Given the description of an element on the screen output the (x, y) to click on. 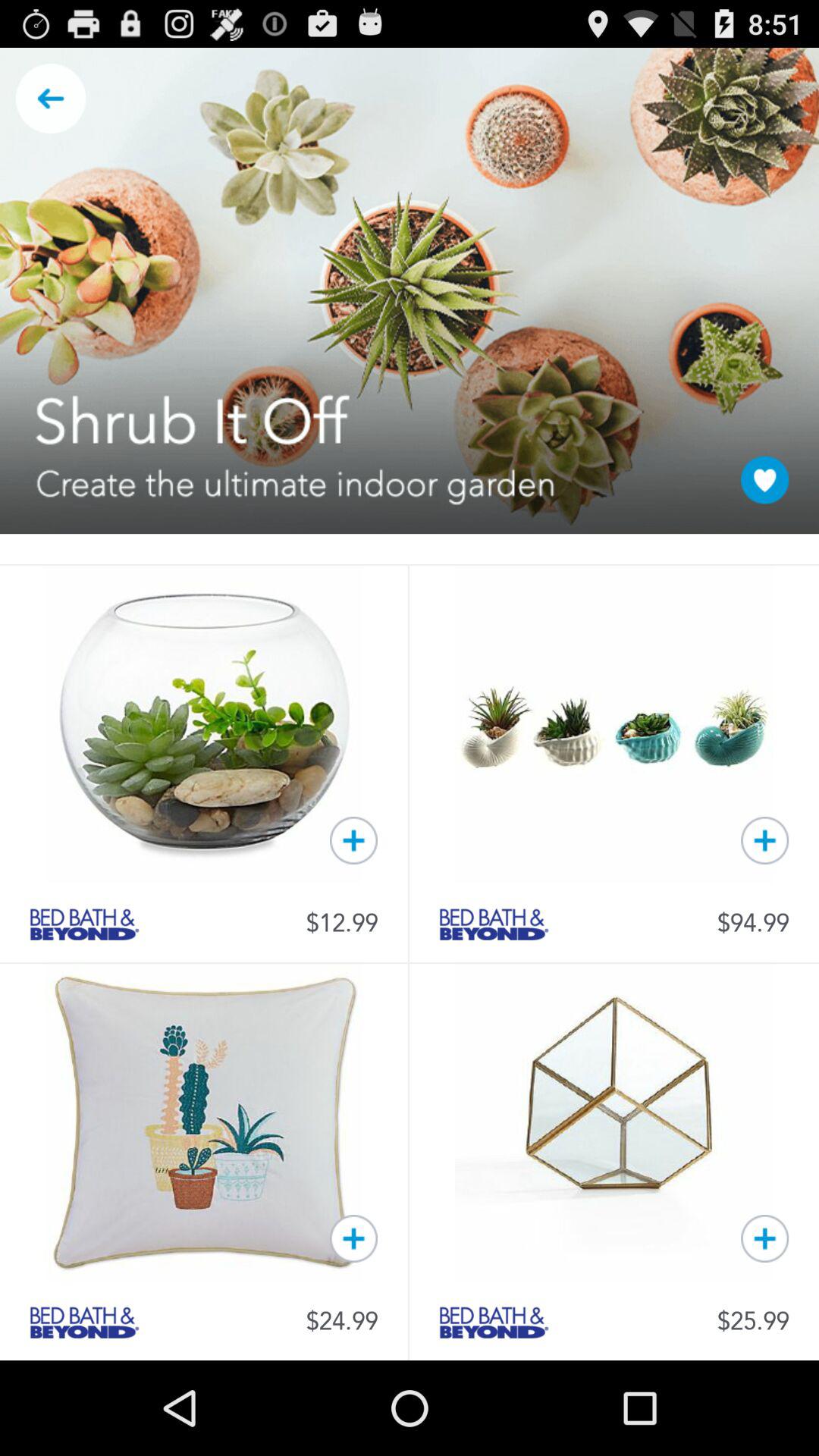
add this item (764, 840)
